Given the description of an element on the screen output the (x, y) to click on. 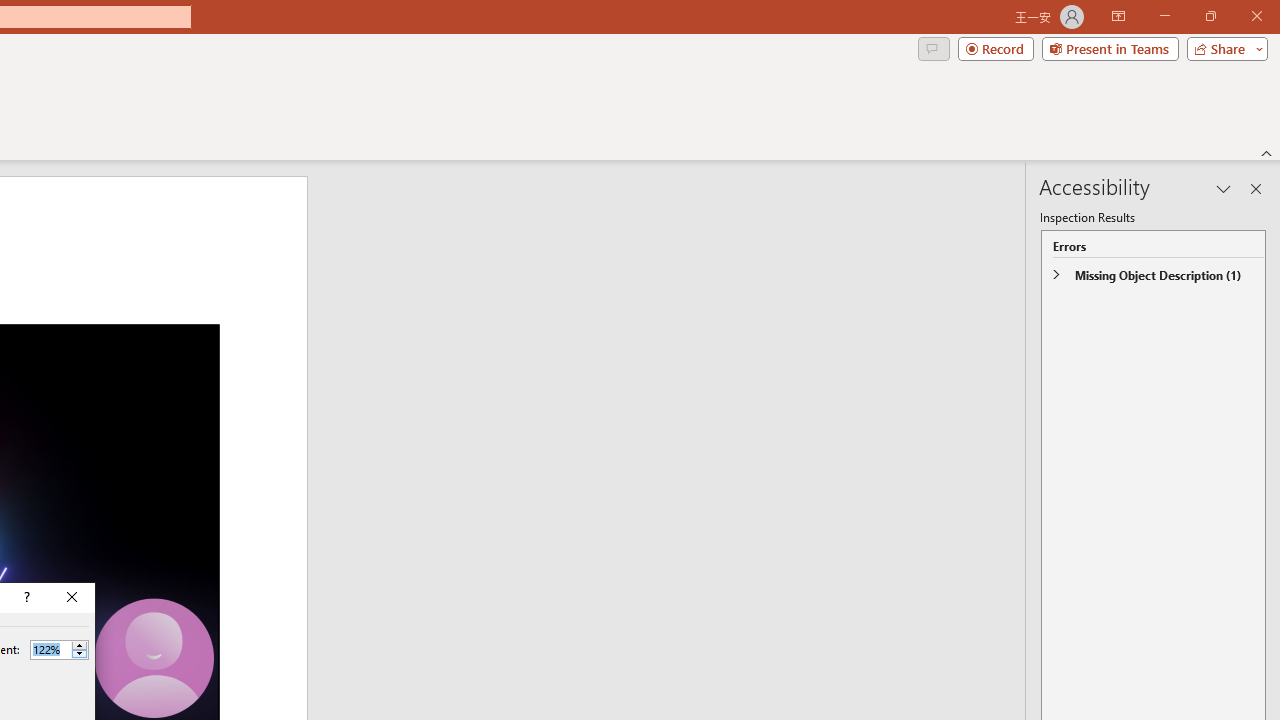
Percent (59, 650)
Context help (25, 597)
Percent (50, 649)
